Given the description of an element on the screen output the (x, y) to click on. 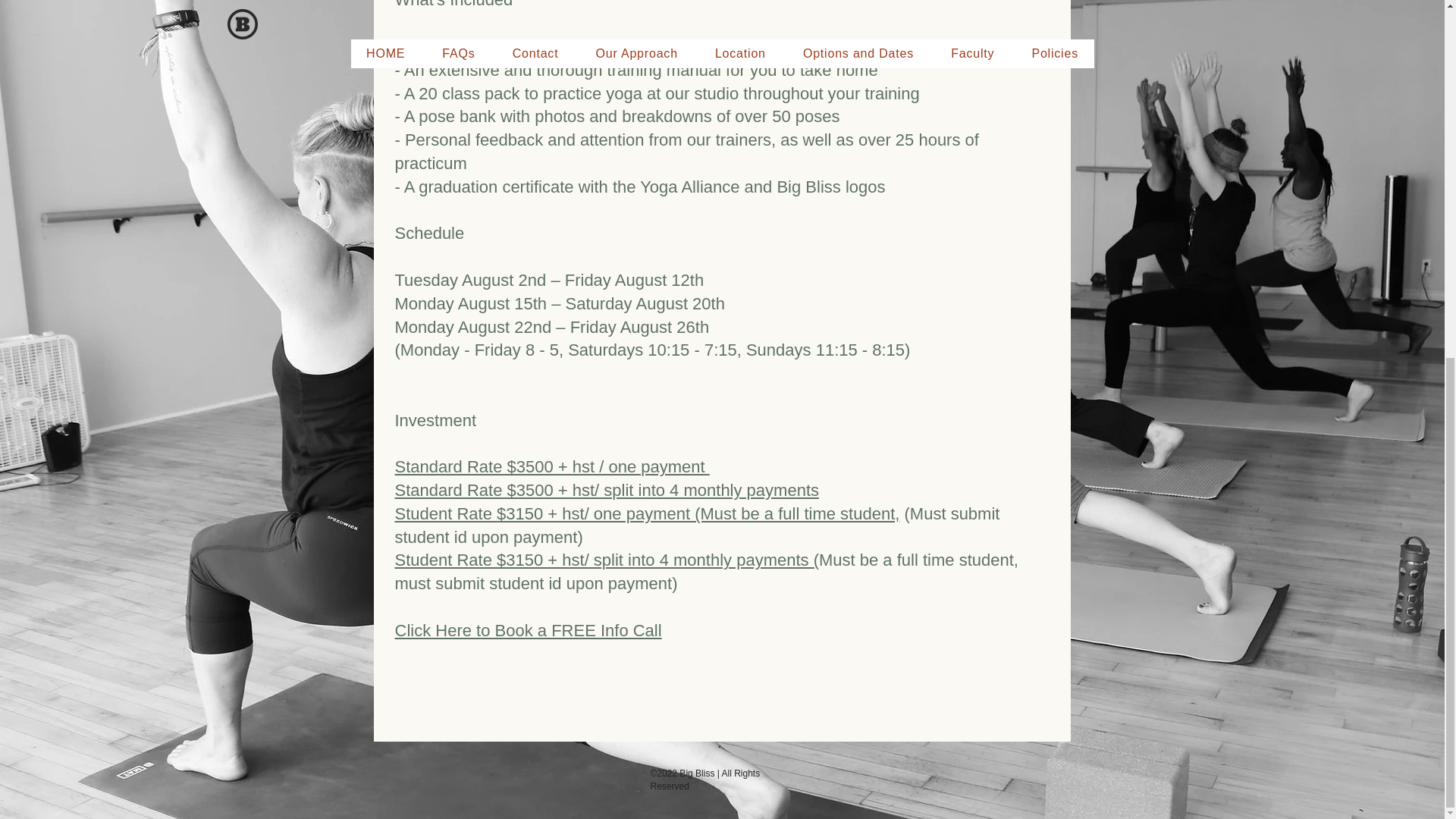
Click Here to Book a FREE Info Call (527, 629)
